Given the description of an element on the screen output the (x, y) to click on. 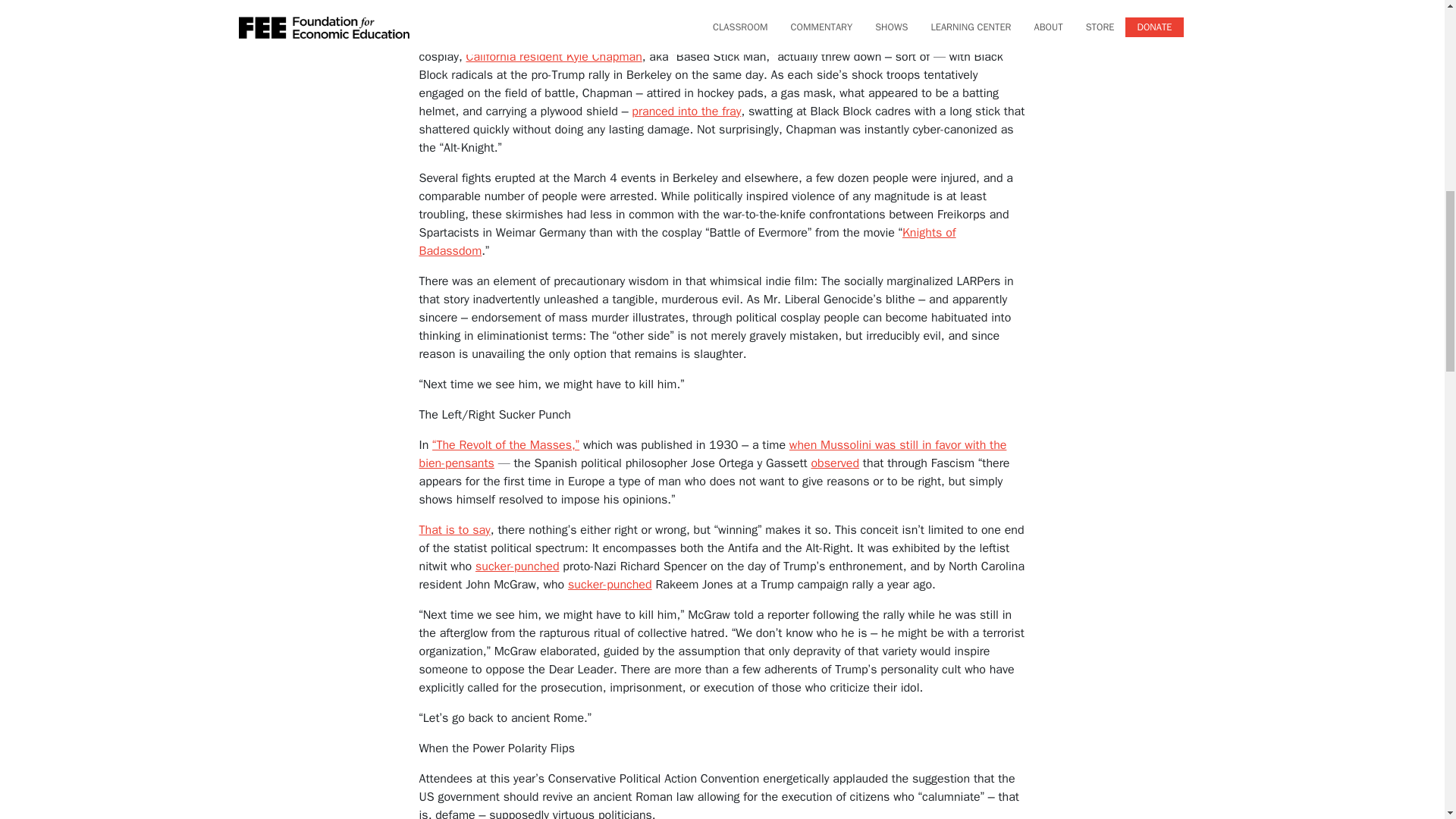
That is to say (454, 529)
when Mussolini was still in favor with the bien-pensants (712, 453)
sucker-punched (517, 566)
sucker-punched (609, 584)
Knights of Badassdom (687, 241)
observed (834, 462)
pranced into the fray (686, 111)
California resident Kyle Chapman (553, 56)
